Given the description of an element on the screen output the (x, y) to click on. 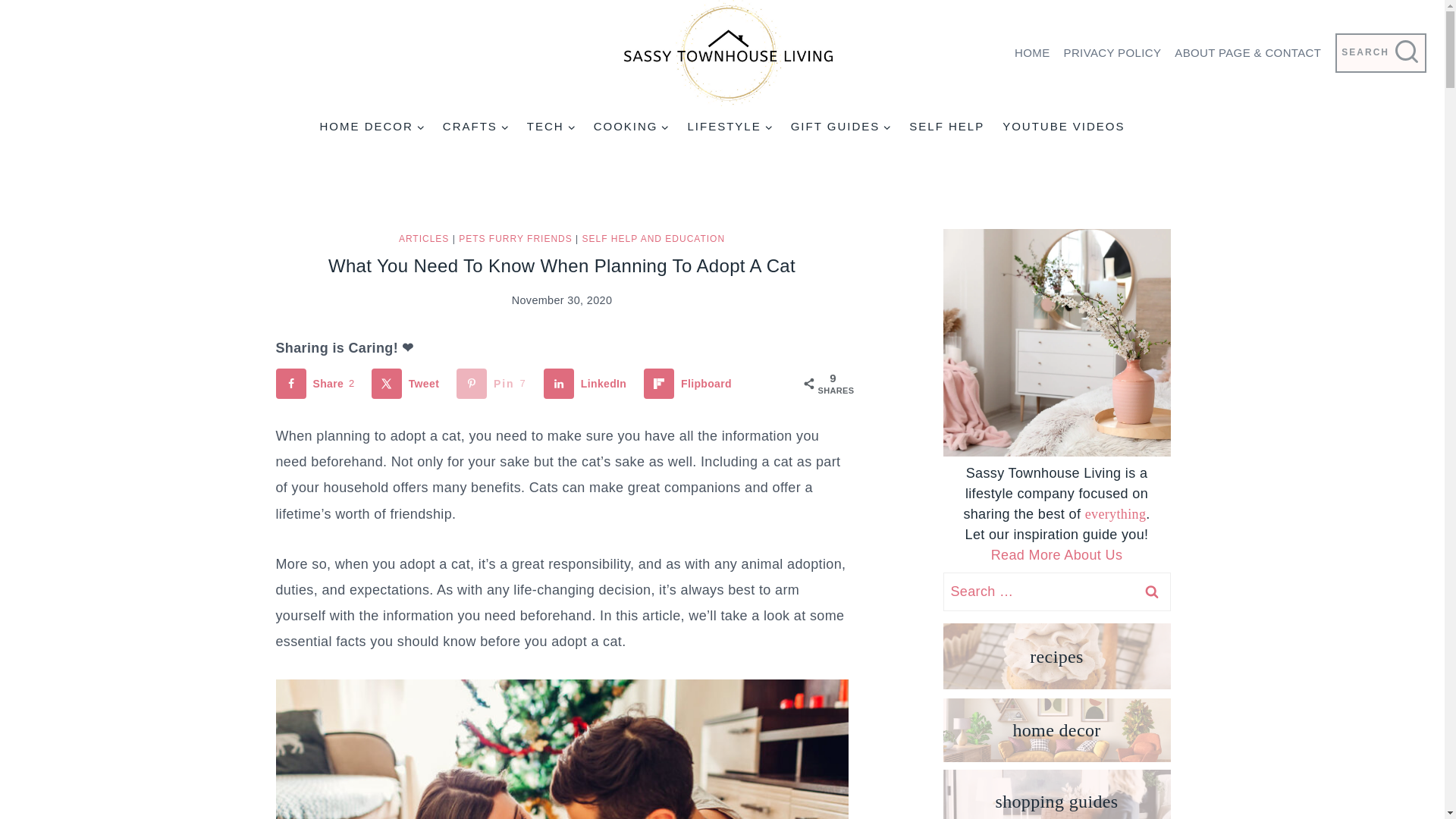
TECH (551, 126)
CRAFTS (475, 126)
YOUTUBE VIDEOS (1063, 126)
HOME (1032, 53)
Share on Facebook (318, 383)
Search (1151, 591)
Save to Pinterest (494, 383)
SEARCH (1380, 52)
HOME DECOR (371, 126)
Share on Flipboard (690, 383)
COOKING (631, 126)
SELF HELP (945, 126)
PRIVACY POLICY (1113, 53)
Search (1151, 591)
Share on LinkedIn (588, 383)
